Given the description of an element on the screen output the (x, y) to click on. 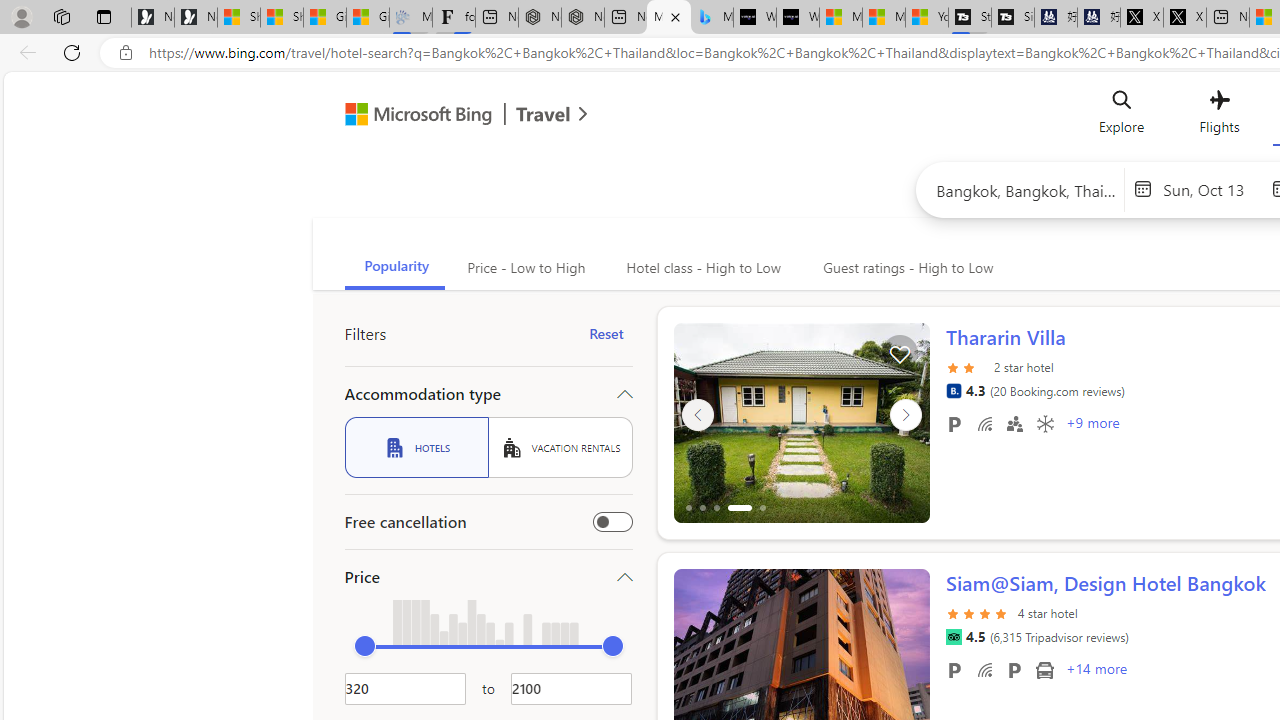
Explore (1121, 116)
X (1184, 17)
Microsoft Bing (410, 116)
What's the best AI voice generator? - voice.ai (798, 17)
Close tab (674, 16)
Slide 4 (801, 422)
Refresh (72, 52)
+9 More Amenities (1092, 425)
Hotel class - High to Low (701, 268)
HOTELS (416, 447)
Price (488, 576)
Microsoft Bing Travel - Shangri-La Hotel Bangkok (712, 17)
Popularity (394, 268)
